Given the description of an element on the screen output the (x, y) to click on. 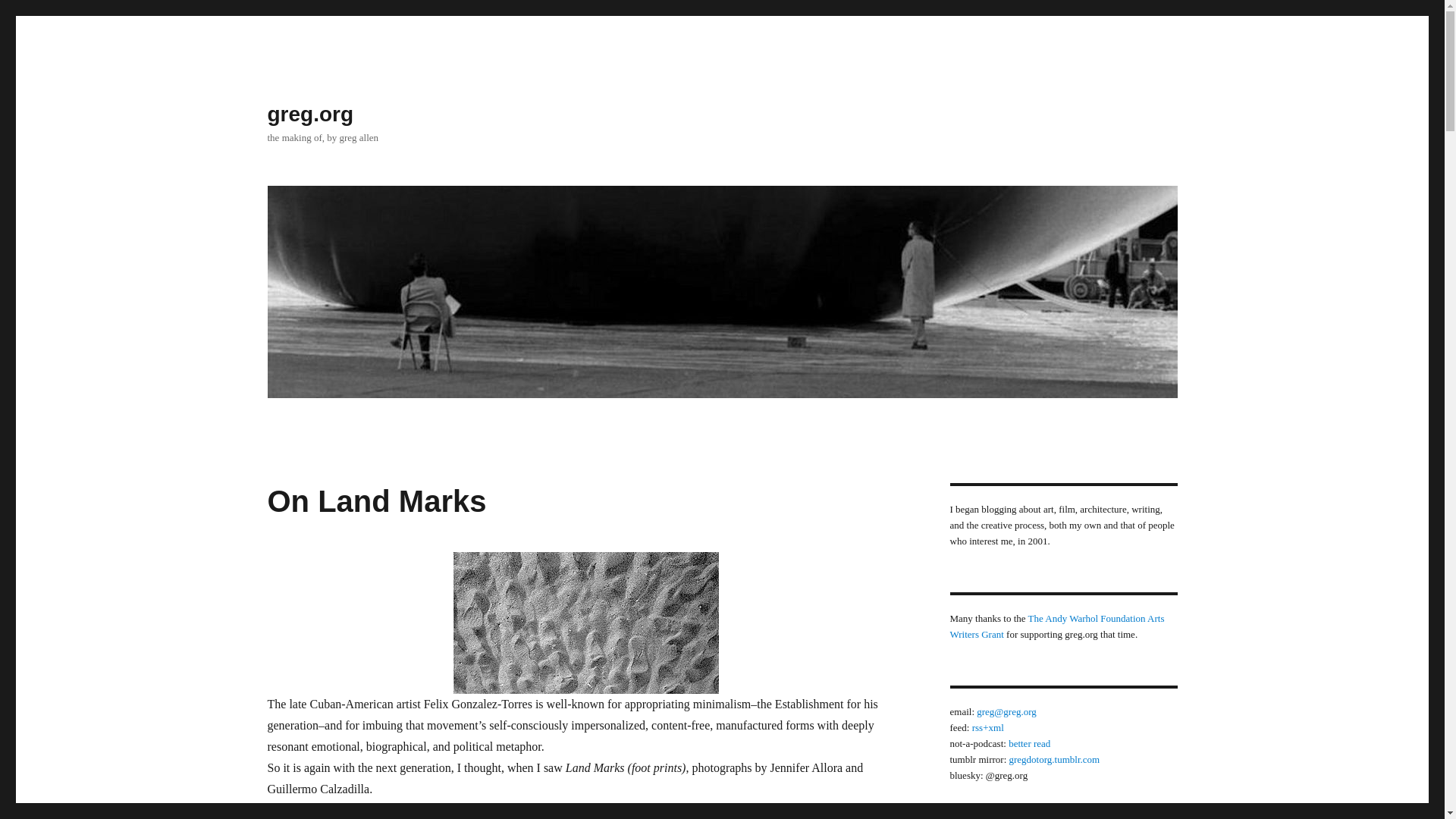
greg.org (309, 114)
The Andy Warhol Foundation Arts Writers Grant (1056, 625)
better read (1029, 743)
gregdotorg.tumblr.com (1054, 758)
